Given the description of an element on the screen output the (x, y) to click on. 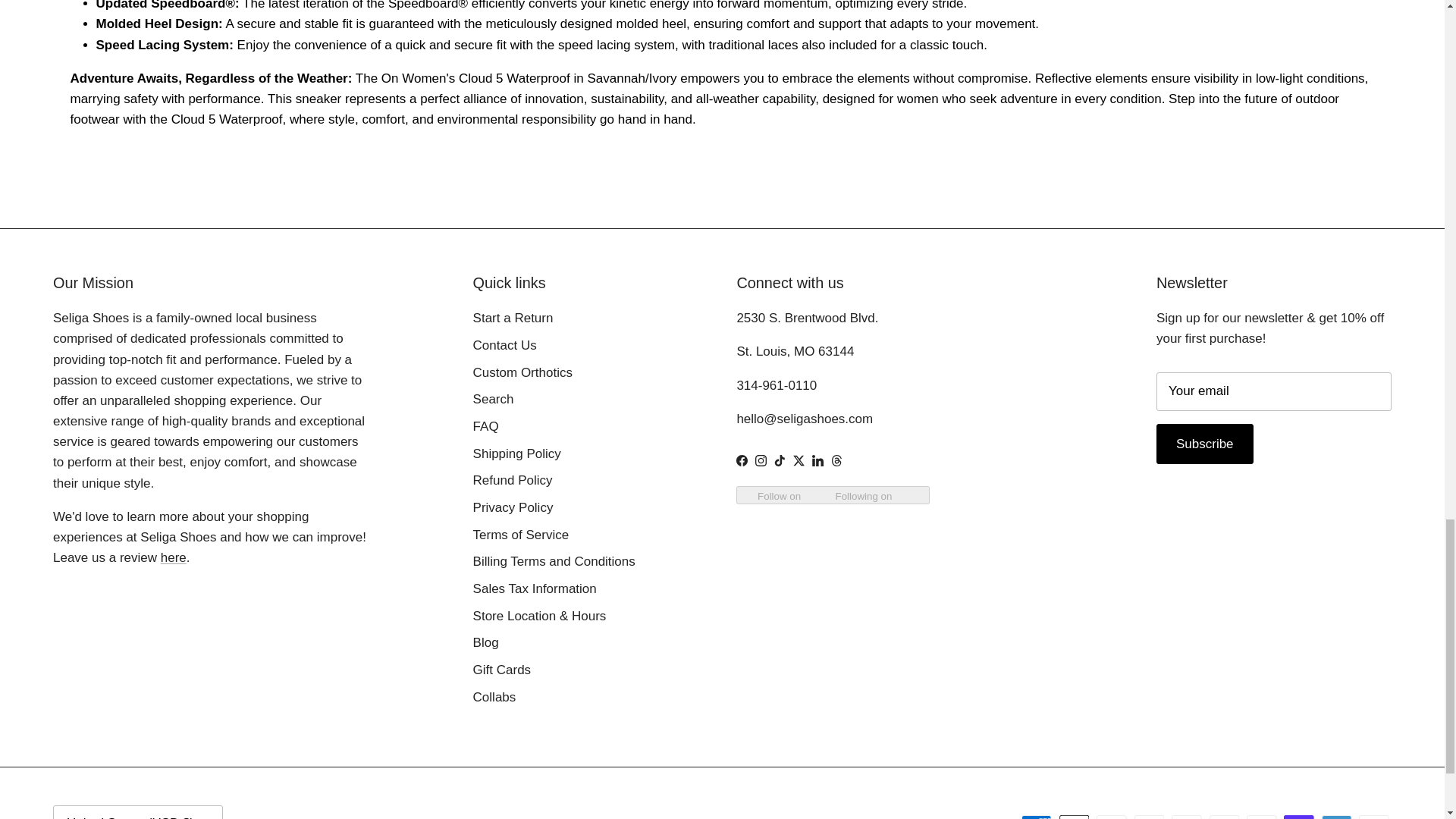
Seliga Shoes on Facebook (742, 460)
Seliga Shoes on Threads (837, 460)
Seliga Shoes on Twitter (799, 460)
Seliga Shoes on TikTok (780, 460)
Seliga Shoes on LinkedIn (818, 460)
Seliga Shoes on Instagram (761, 460)
